Given the description of an element on the screen output the (x, y) to click on. 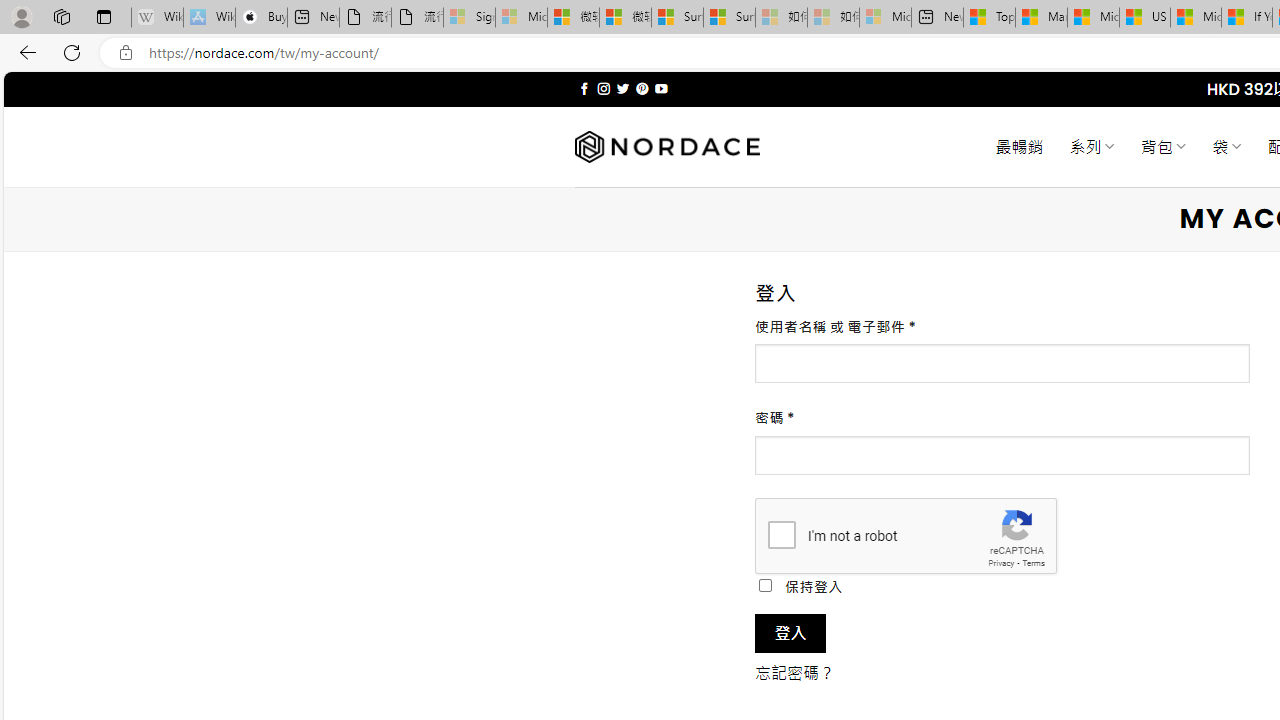
Microsoft account | Account Checkup - Sleeping (885, 17)
Sign in to your Microsoft account - Sleeping (469, 17)
US Heat Deaths Soared To Record High Last Year (1144, 17)
Follow on Facebook (584, 88)
Follow on Pinterest (642, 88)
